Given the description of an element on the screen output the (x, y) to click on. 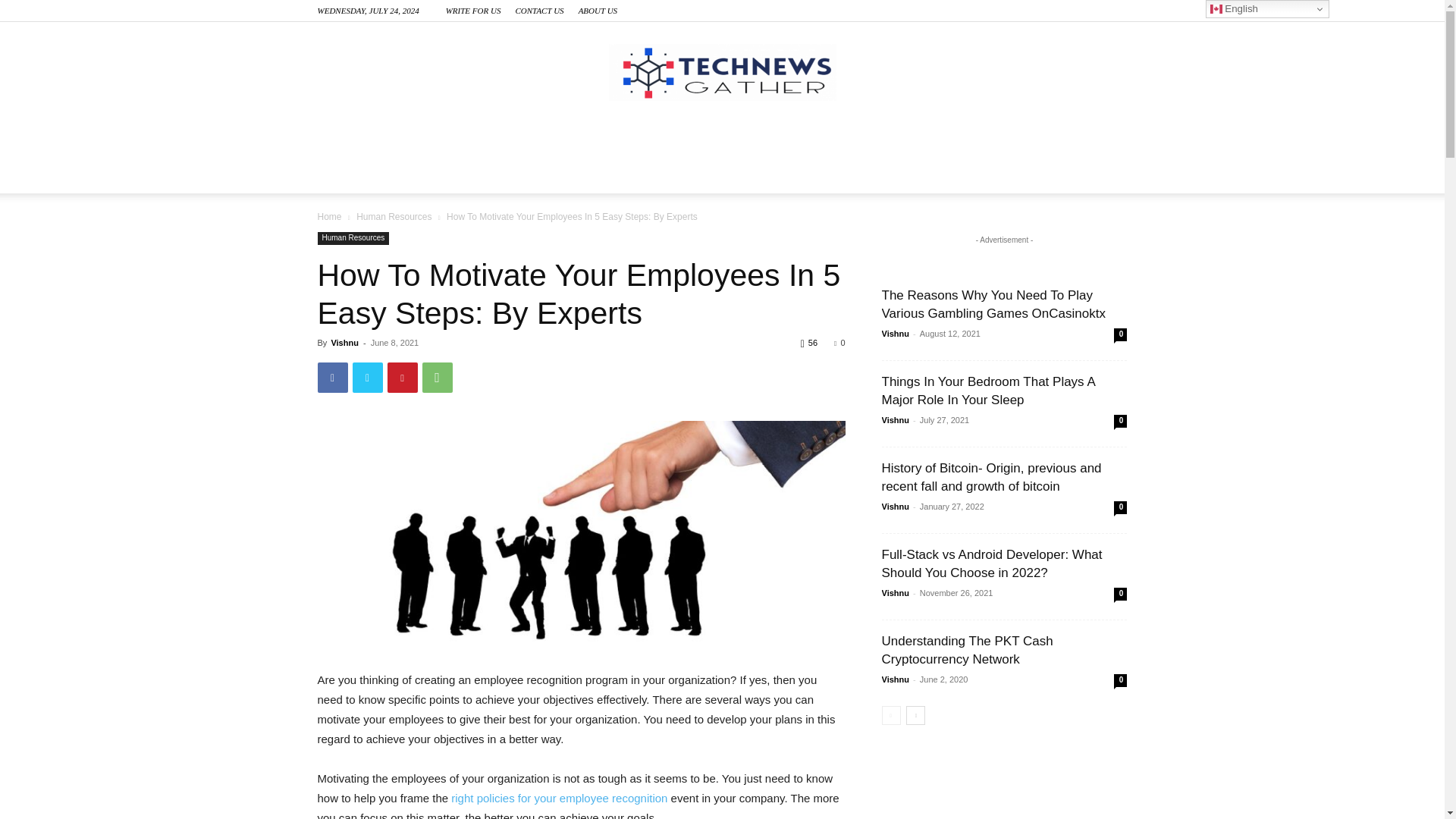
ABOUT US (597, 10)
Technewsgather (721, 72)
BUSINESS (508, 138)
Technewsgather (721, 72)
TECHNOLOGY (385, 138)
WRITE FOR US (472, 10)
CONTACT US (539, 10)
